Given the description of an element on the screen output the (x, y) to click on. 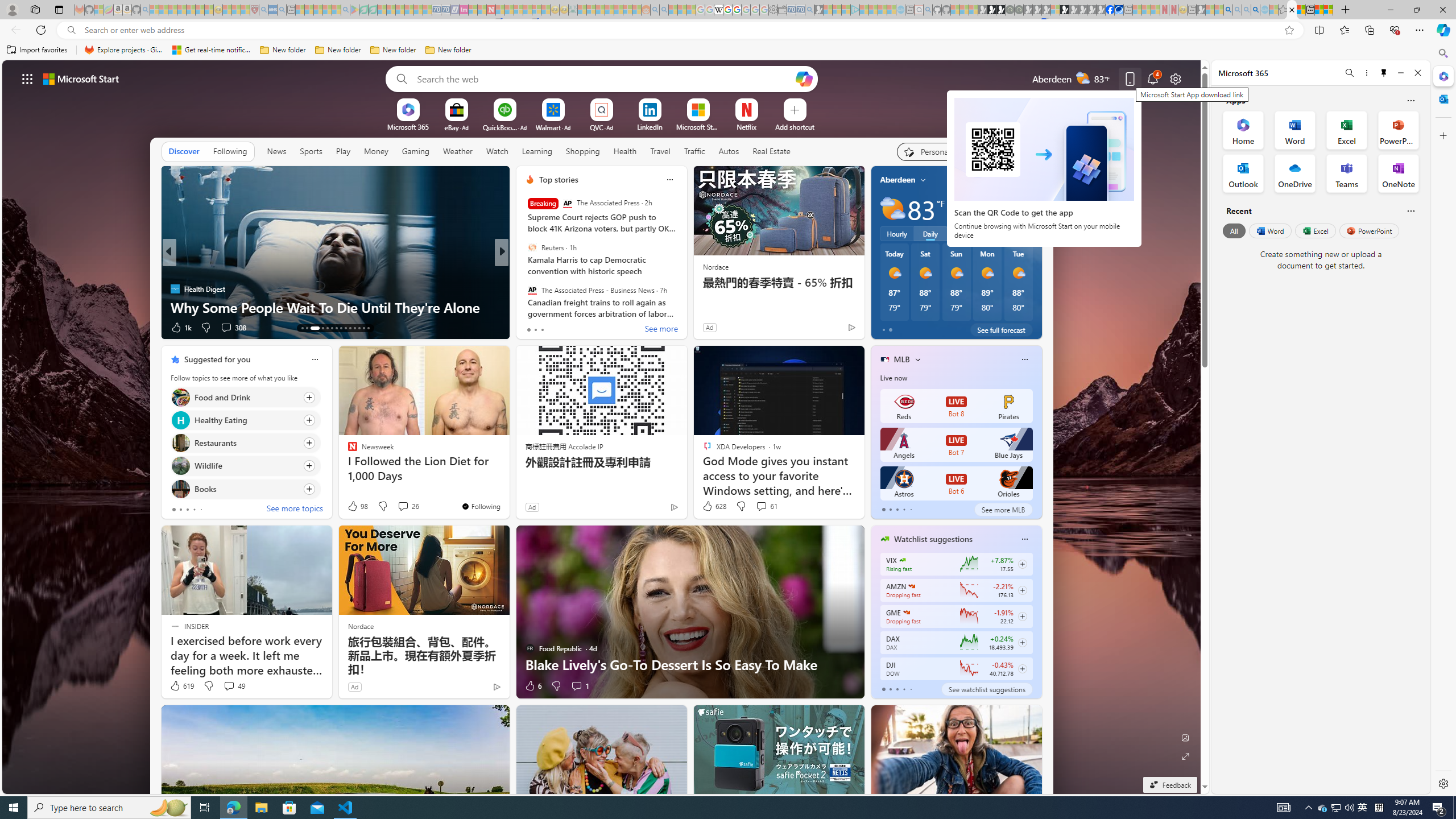
Eggs All Ways (524, 288)
Body Network (524, 270)
I Lost 88 Pounds With These 4 Simple Binge-Busting Tips (684, 298)
Target page - Wikipedia (718, 9)
OneNote Office App (1398, 172)
Watchlist suggestions (932, 538)
AutomationID: tab-21 (345, 328)
AutomationID: tab-22 (349, 328)
